Given the description of an element on the screen output the (x, y) to click on. 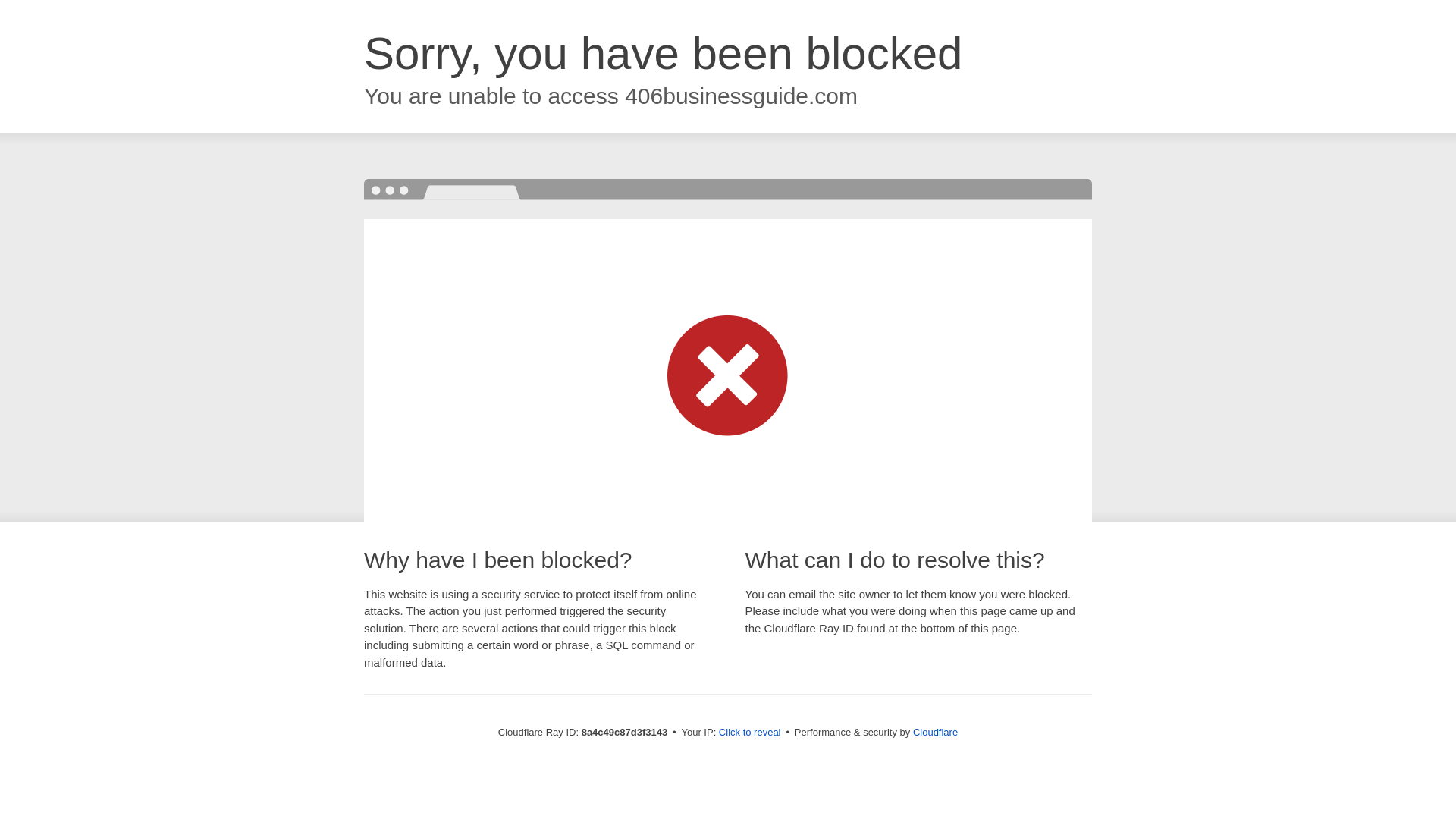
Cloudflare (935, 731)
Click to reveal (749, 732)
